Given the description of an element on the screen output the (x, y) to click on. 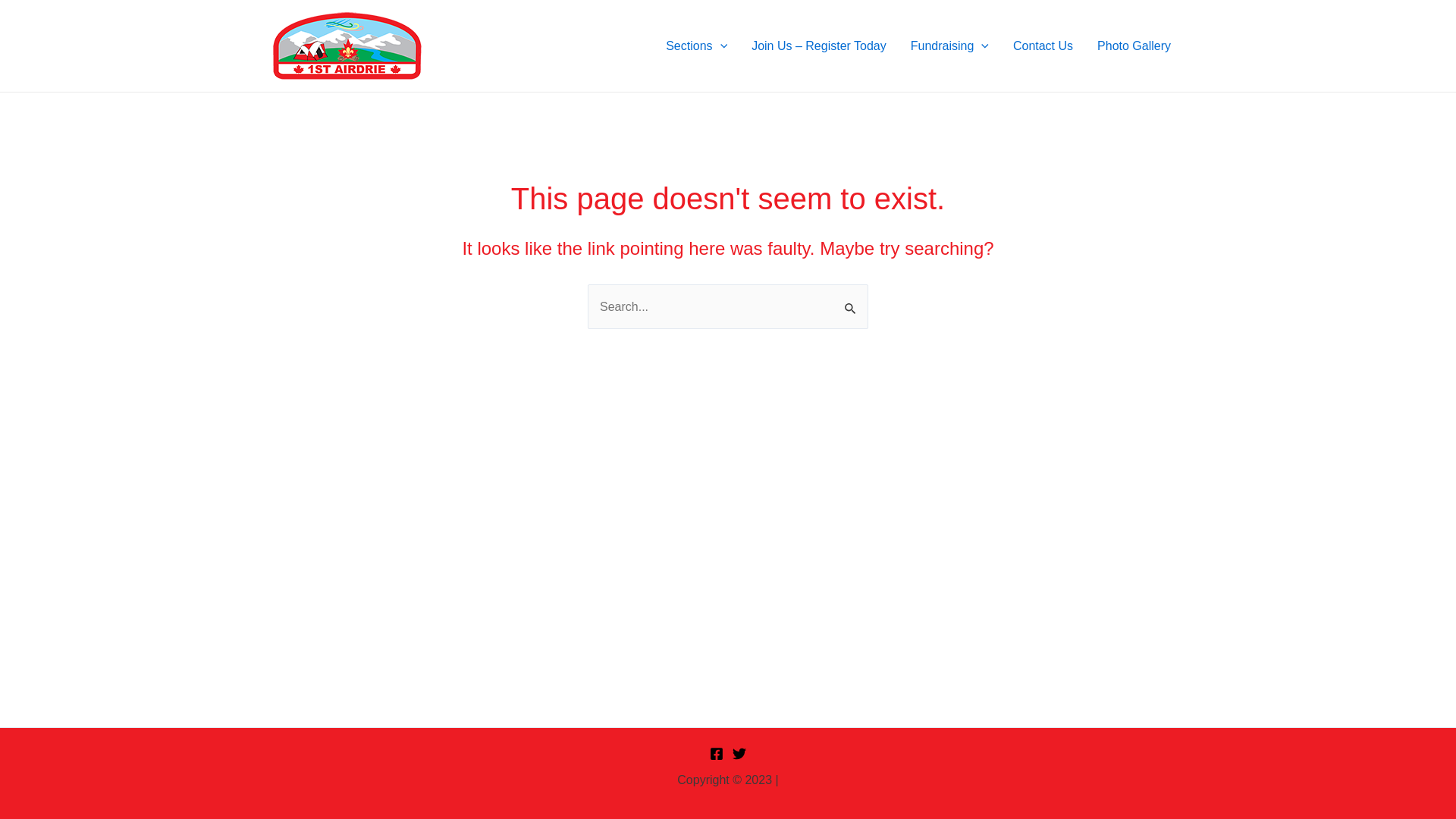
Photo Gallery Element type: text (1134, 45)
Contact Us Element type: text (1043, 45)
Fundraising Element type: text (949, 45)
Search Element type: text (851, 300)
Sections Element type: text (696, 45)
